Given the description of an element on the screen output the (x, y) to click on. 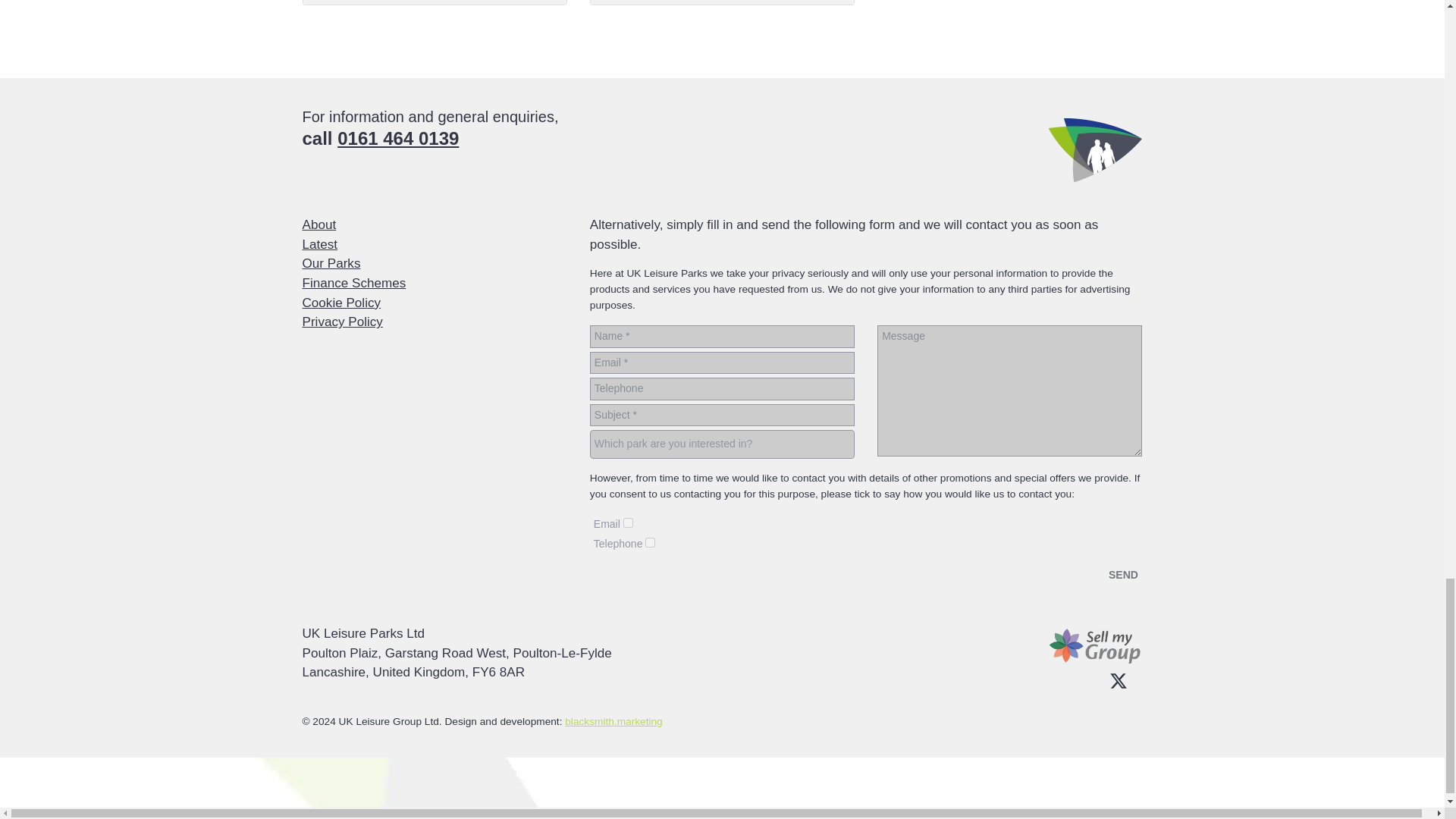
SEND (1122, 575)
Email (628, 522)
Telephone (650, 542)
